Given the description of an element on the screen output the (x, y) to click on. 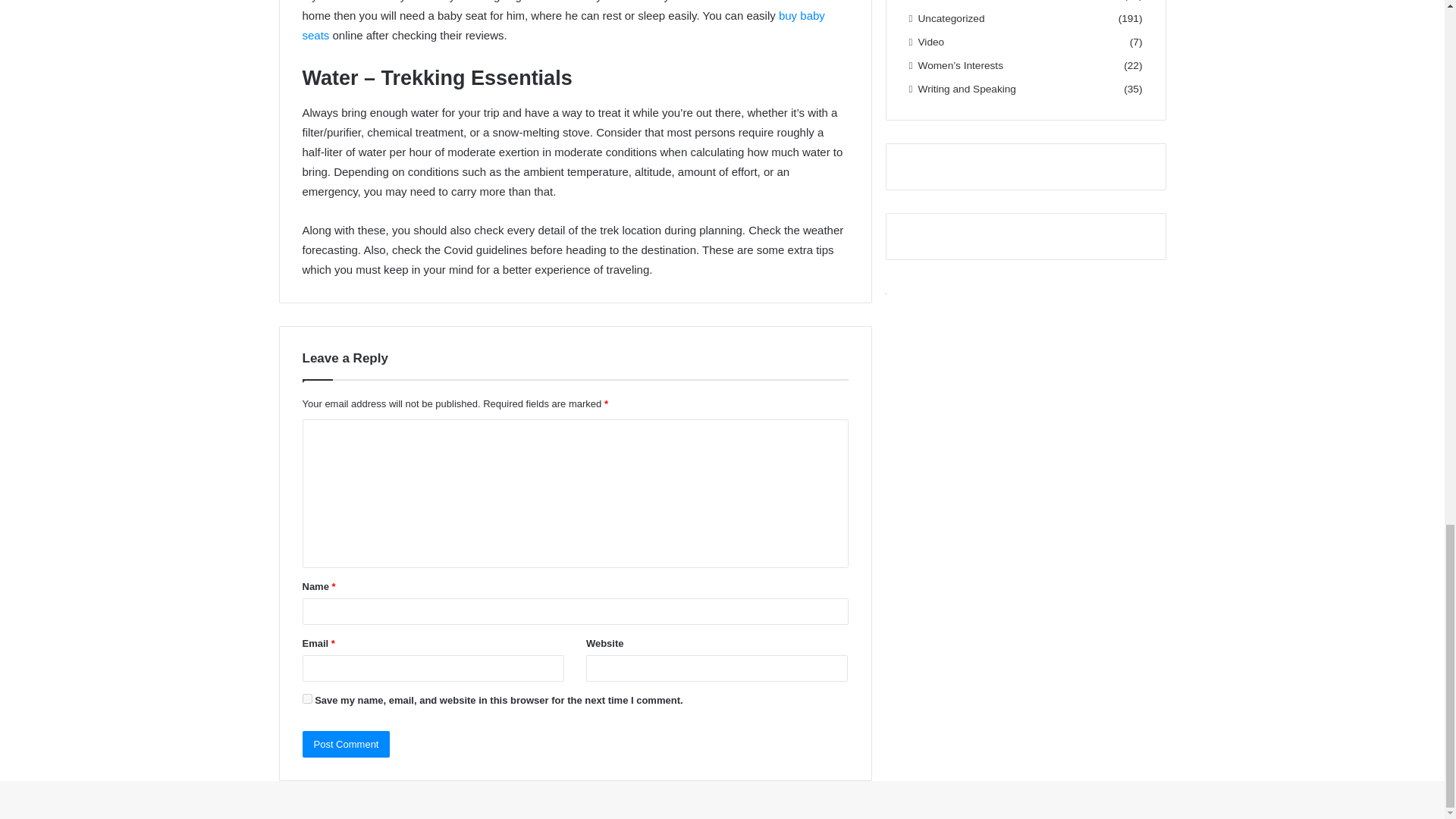
buy baby seats (562, 25)
Post Comment (345, 744)
Post Comment (345, 744)
yes (306, 698)
